Given the description of an element on the screen output the (x, y) to click on. 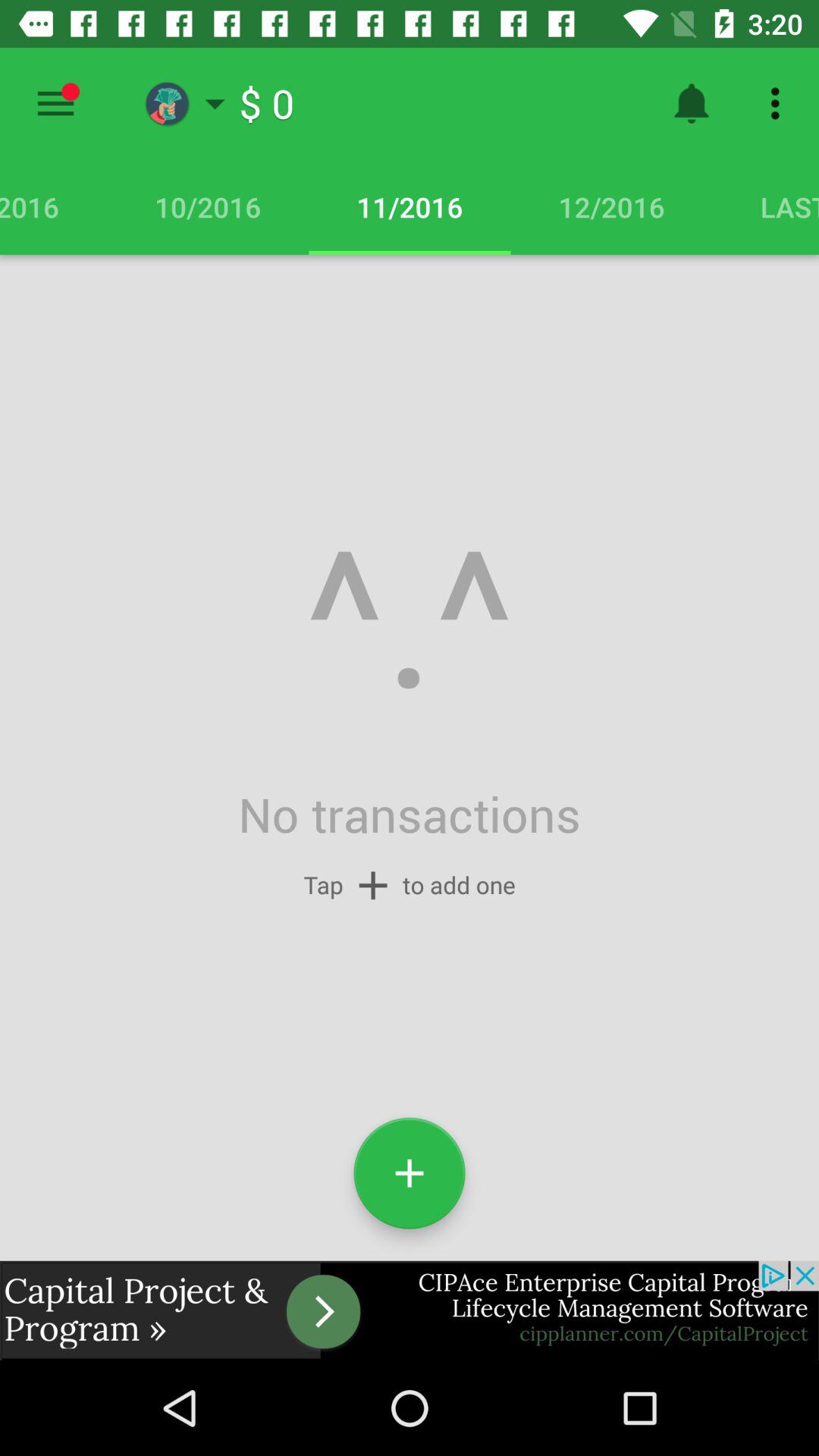
select advertisement (409, 1310)
